Given the description of an element on the screen output the (x, y) to click on. 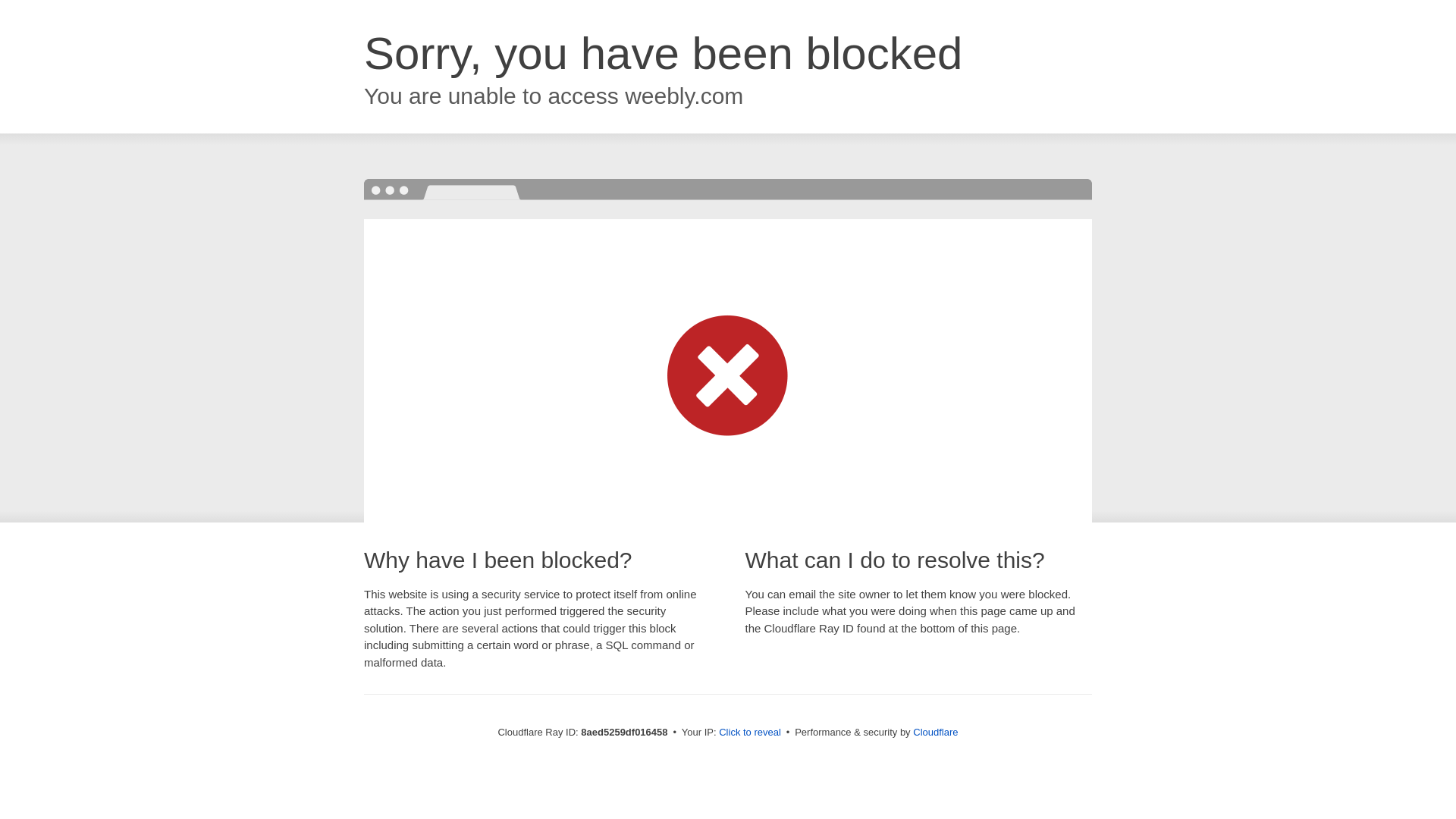
Cloudflare (935, 731)
Click to reveal (749, 732)
